Given the description of an element on the screen output the (x, y) to click on. 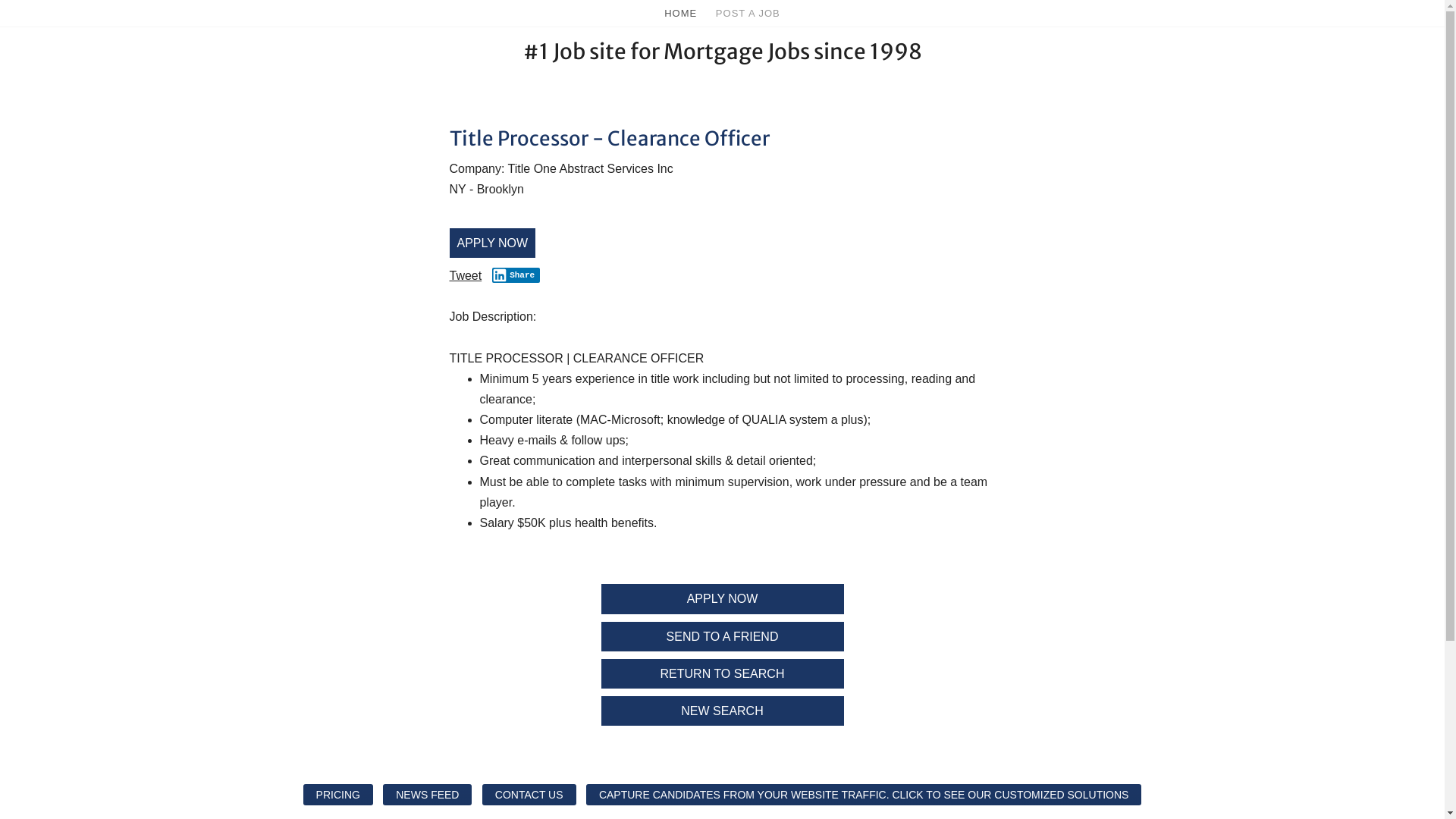
RETURN TO SEARCH Element type: text (721, 673)
POST A JOB Element type: text (747, 14)
NEWS FEED Element type: text (426, 794)
APPLY NOW Element type: text (491, 242)
SEND TO A FRIEND Element type: text (721, 636)
HOME Element type: text (680, 14)
CONTACT US Element type: text (529, 794)
APPLY NOW Element type: text (721, 598)
PRICING Element type: text (338, 794)
Tweet Element type: text (464, 275)
NEW SEARCH Element type: text (721, 710)
Share Element type: text (516, 274)
